Given the description of an element on the screen output the (x, y) to click on. 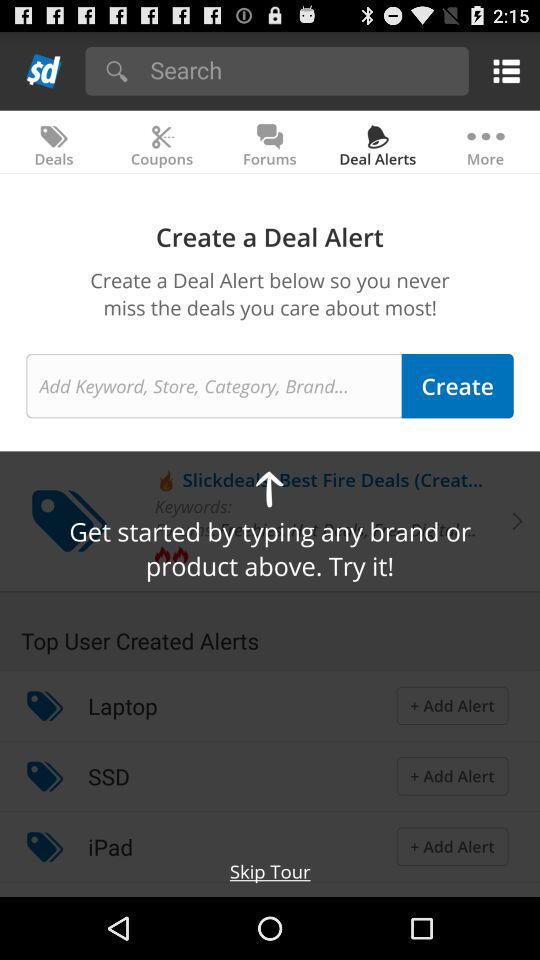
select the item next to ssd (44, 776)
